Given the description of an element on the screen output the (x, y) to click on. 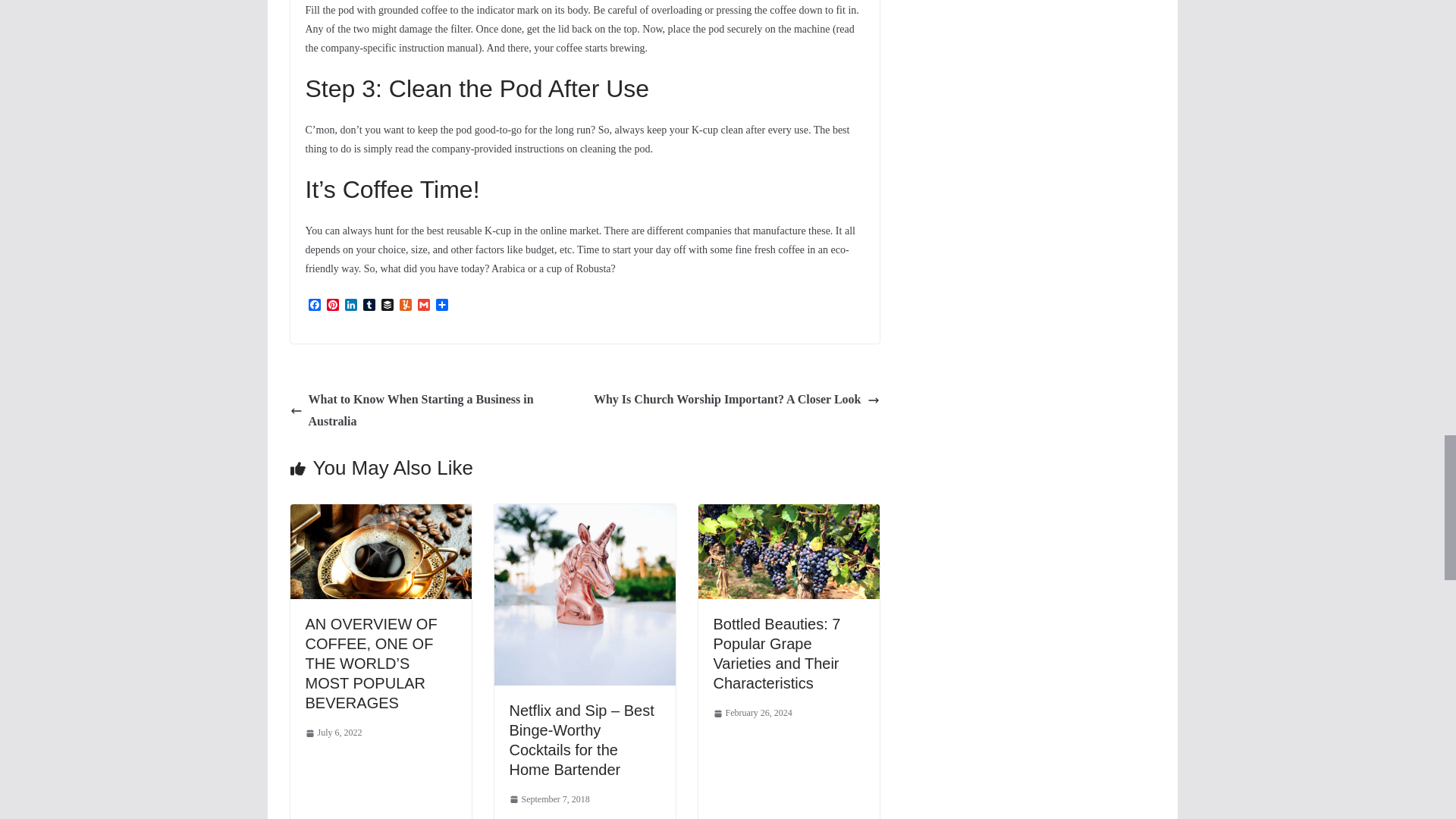
Buffer (386, 305)
What to Know When Starting a Business in Australia (432, 411)
Yummly (404, 305)
Why Is Church Worship Important? A Closer Look (736, 400)
Tumblr (368, 305)
LinkedIn (349, 305)
Facebook (313, 305)
Gmail (422, 305)
Pinterest (331, 305)
Share (440, 305)
LinkedIn (349, 305)
Yummly (404, 305)
Tumblr (368, 305)
Facebook (313, 305)
Pinterest (331, 305)
